Given the description of an element on the screen output the (x, y) to click on. 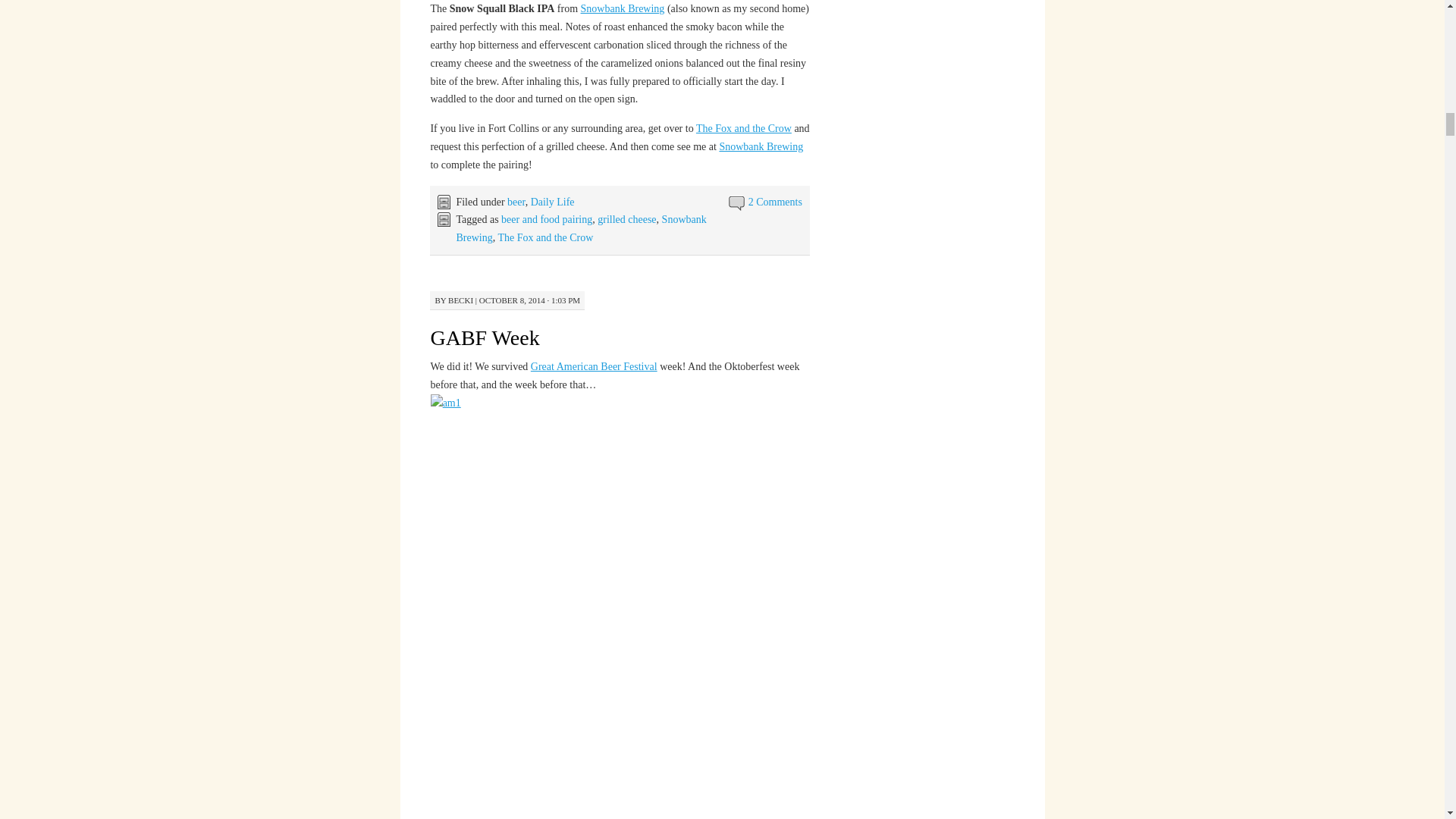
View all posts by Becki (460, 299)
GABF 2013 (594, 366)
